Given the description of an element on the screen output the (x, y) to click on. 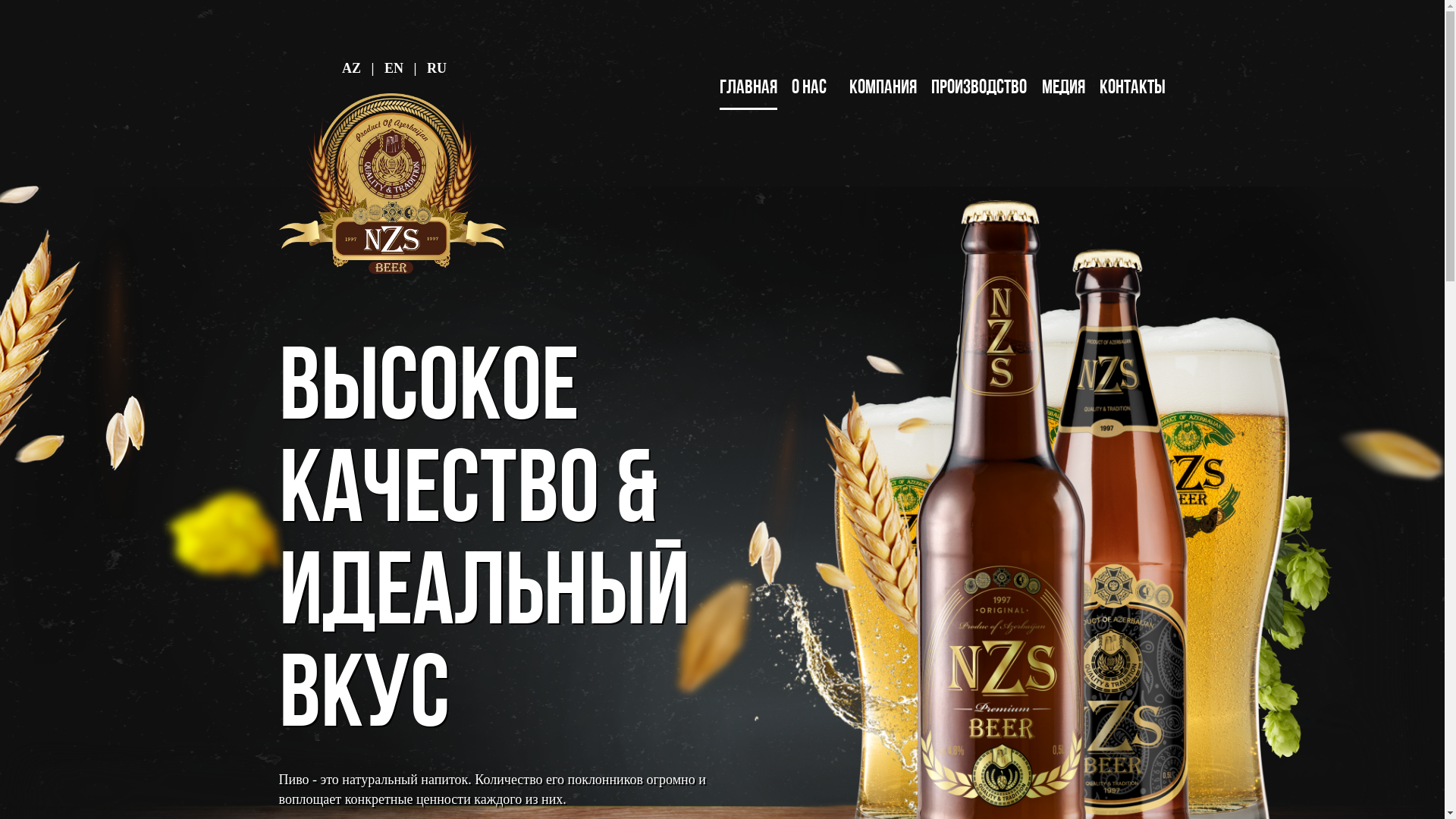
RU Element type: text (436, 68)
EN Element type: text (393, 68)
  |   Element type: text (372, 68)
  |   Element type: text (414, 68)
AZ Element type: text (351, 68)
